Given the description of an element on the screen output the (x, y) to click on. 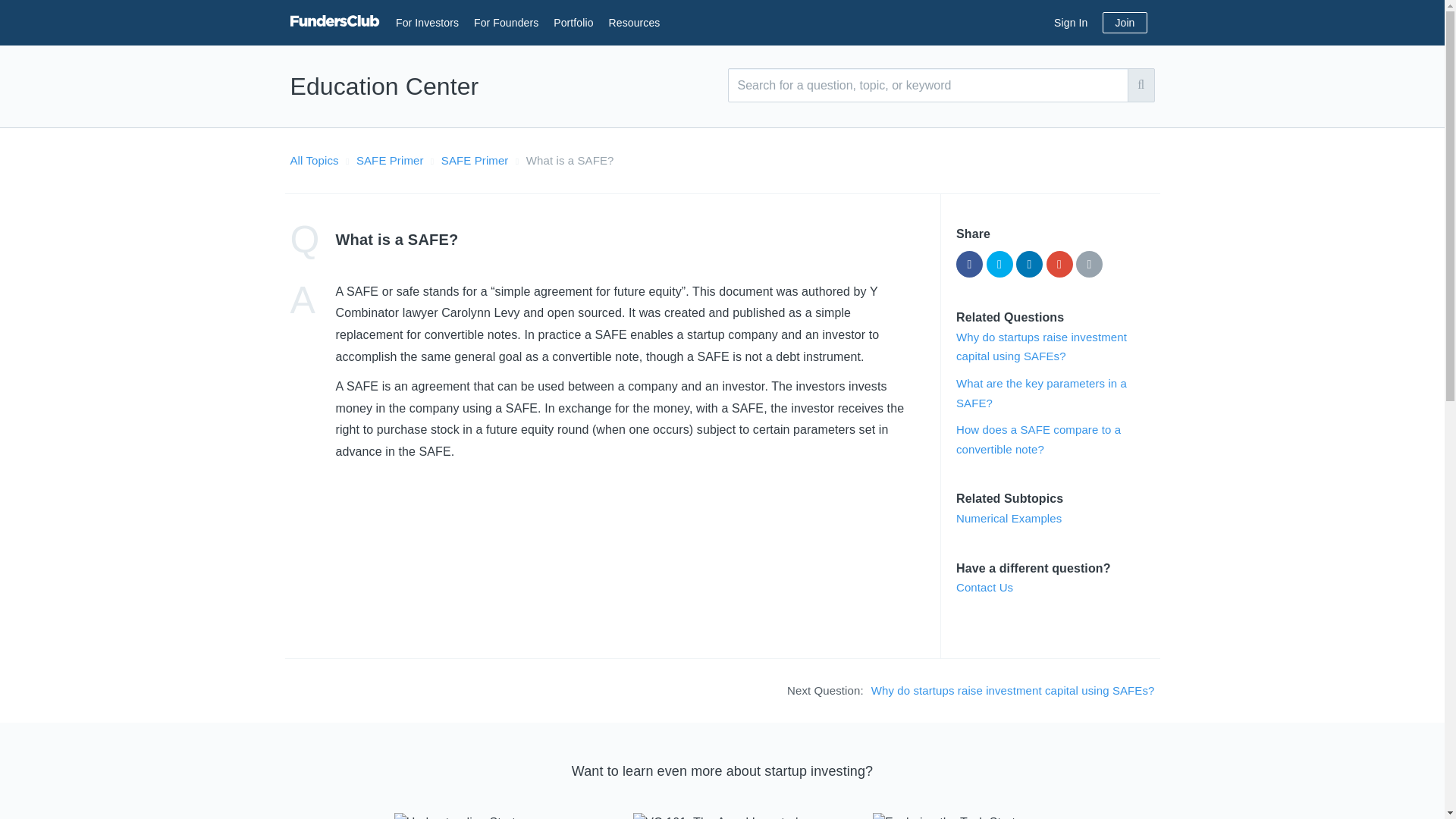
What is a SAFE? (569, 160)
Numerical Examples (1008, 517)
How does a SAFE compare to a convertible note? (1038, 439)
Share via Twitter (1000, 263)
What are the key parameters in a SAFE? (1041, 392)
Why do startups raise investment capital using SAFEs? (1041, 346)
For Investors (427, 22)
For Founders (506, 22)
Join (1124, 22)
Share via Email (1088, 263)
